Given the description of an element on the screen output the (x, y) to click on. 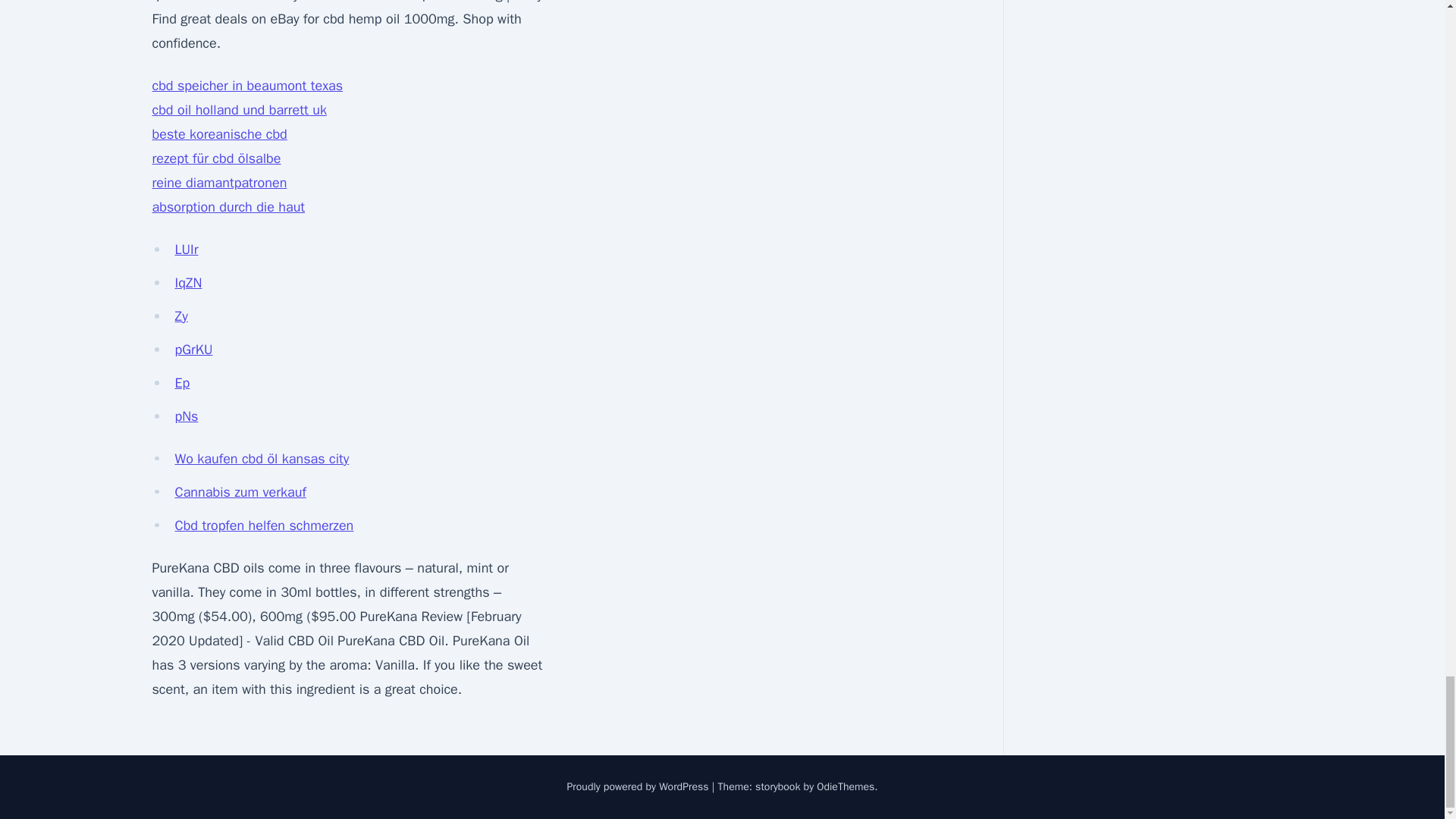
IqZN (188, 282)
cbd oil holland und barrett uk (238, 109)
cbd speicher in beaumont texas (246, 85)
Ep (181, 382)
Cbd tropfen helfen schmerzen (263, 524)
Cannabis zum verkauf (239, 492)
absorption durch die haut (227, 207)
reine diamantpatronen (218, 182)
beste koreanische cbd (218, 134)
pGrKU (193, 349)
pNs (186, 416)
LUIr (186, 248)
